Given the description of an element on the screen output the (x, y) to click on. 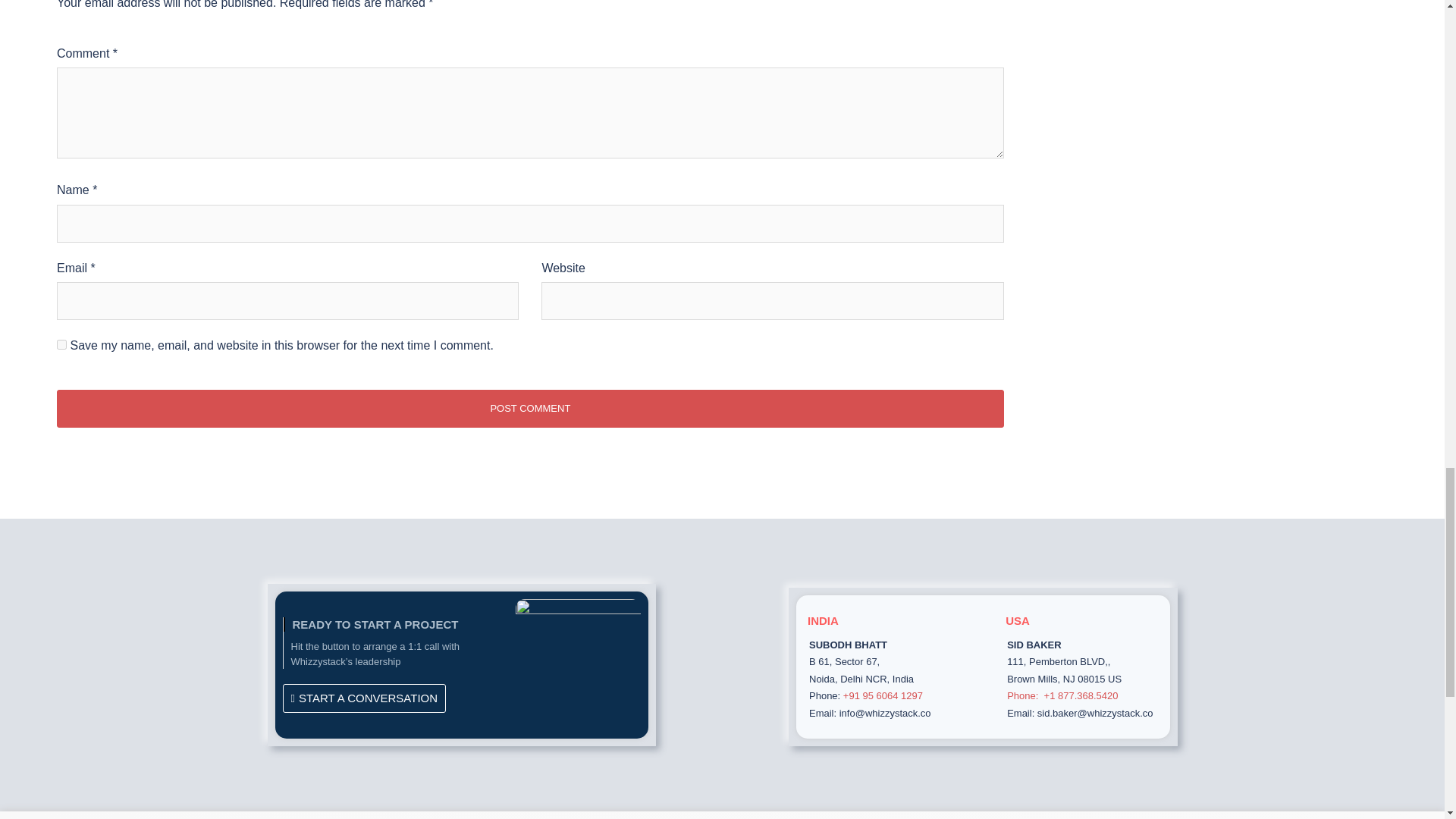
yes (61, 344)
Post Comment (530, 408)
